Given the description of an element on the screen output the (x, y) to click on. 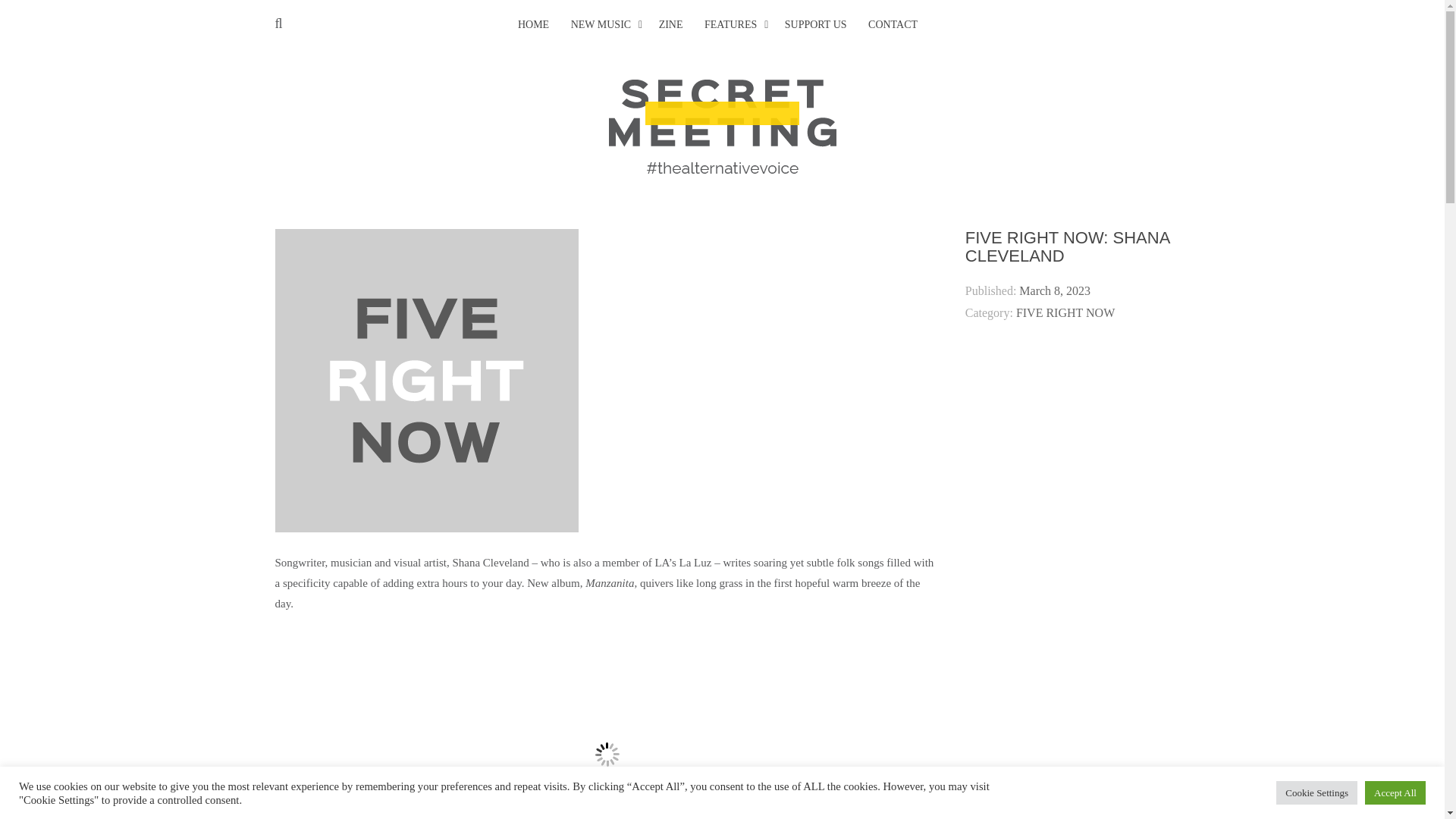
ZINE (670, 25)
YouTube video player (607, 726)
SUPPORT US (815, 25)
FEATURES (730, 25)
NEW MUSIC (600, 25)
CONTACT (892, 25)
HOME (533, 25)
